Given the description of an element on the screen output the (x, y) to click on. 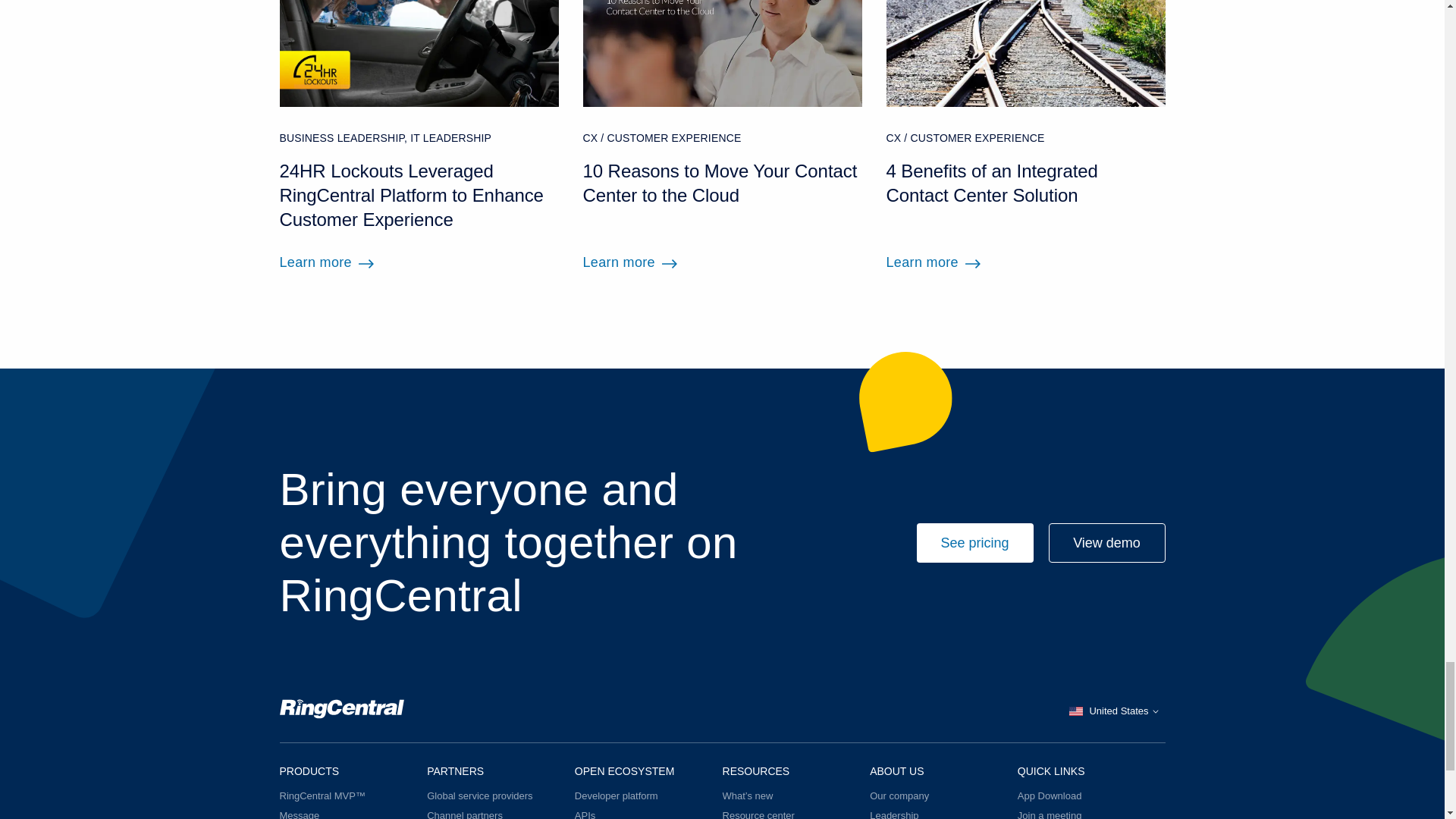
RingCentral Logo (341, 711)
